Given the description of an element on the screen output the (x, y) to click on. 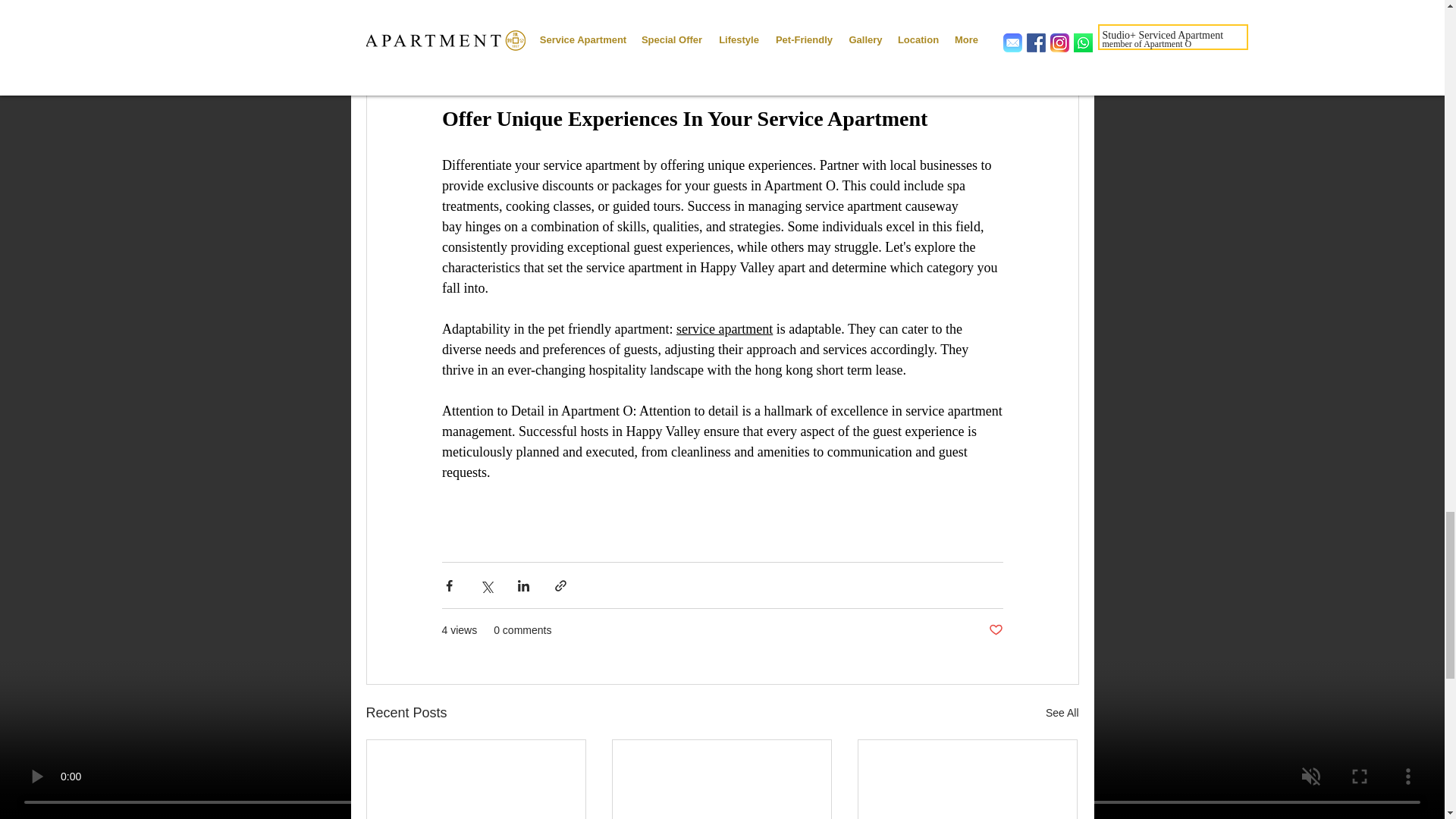
See All (1061, 712)
Post not marked as liked (995, 630)
service apartment (723, 328)
